Given the description of an element on the screen output the (x, y) to click on. 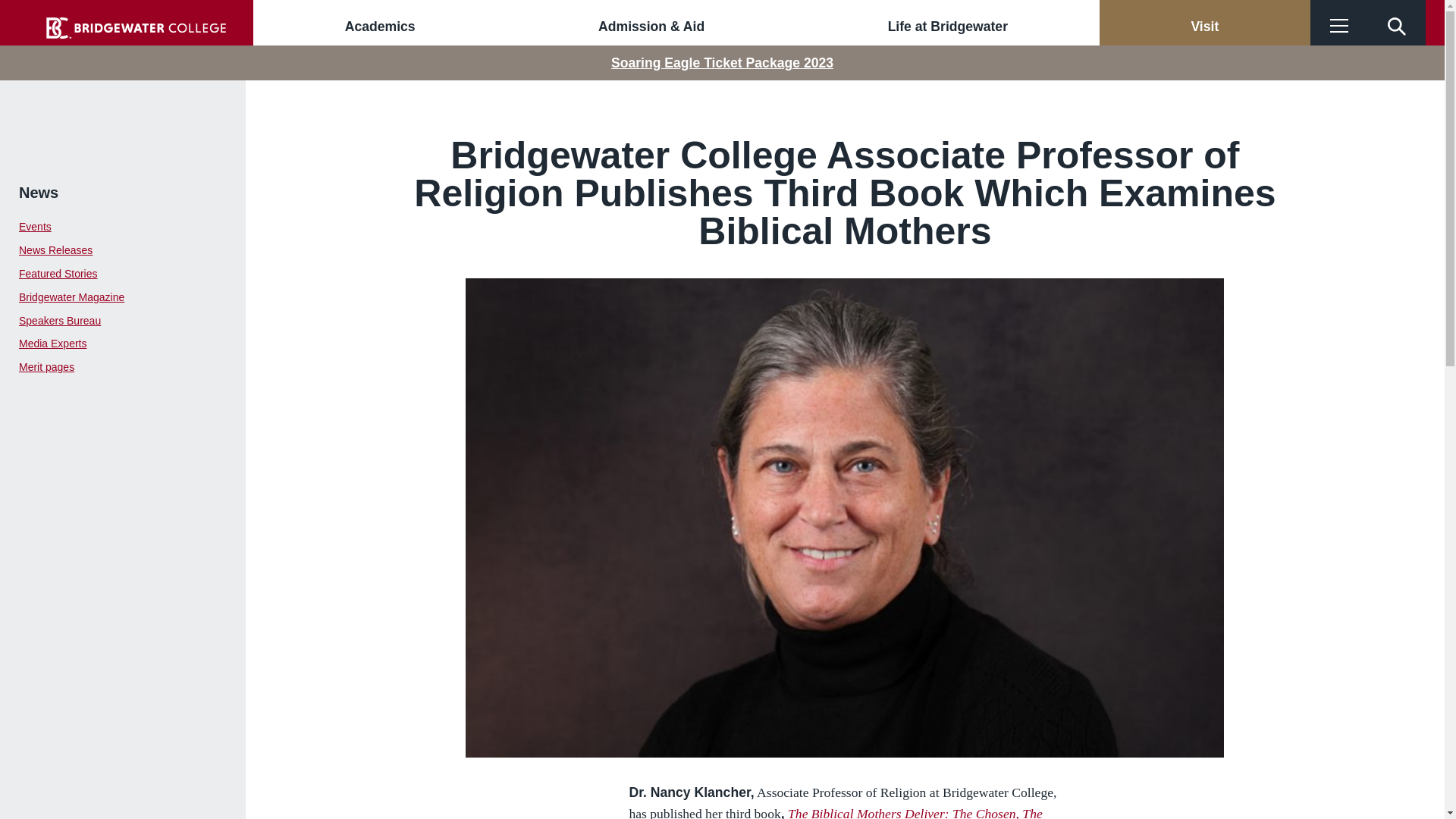
Media Experts (123, 343)
More (1339, 27)
home (135, 27)
Visit (1204, 27)
Visit (1204, 27)
News (38, 192)
News Releases (123, 250)
Featured Stories (123, 273)
Bridgewater Magazine (123, 297)
Life at Bridgewater (947, 27)
